Given the description of an element on the screen output the (x, y) to click on. 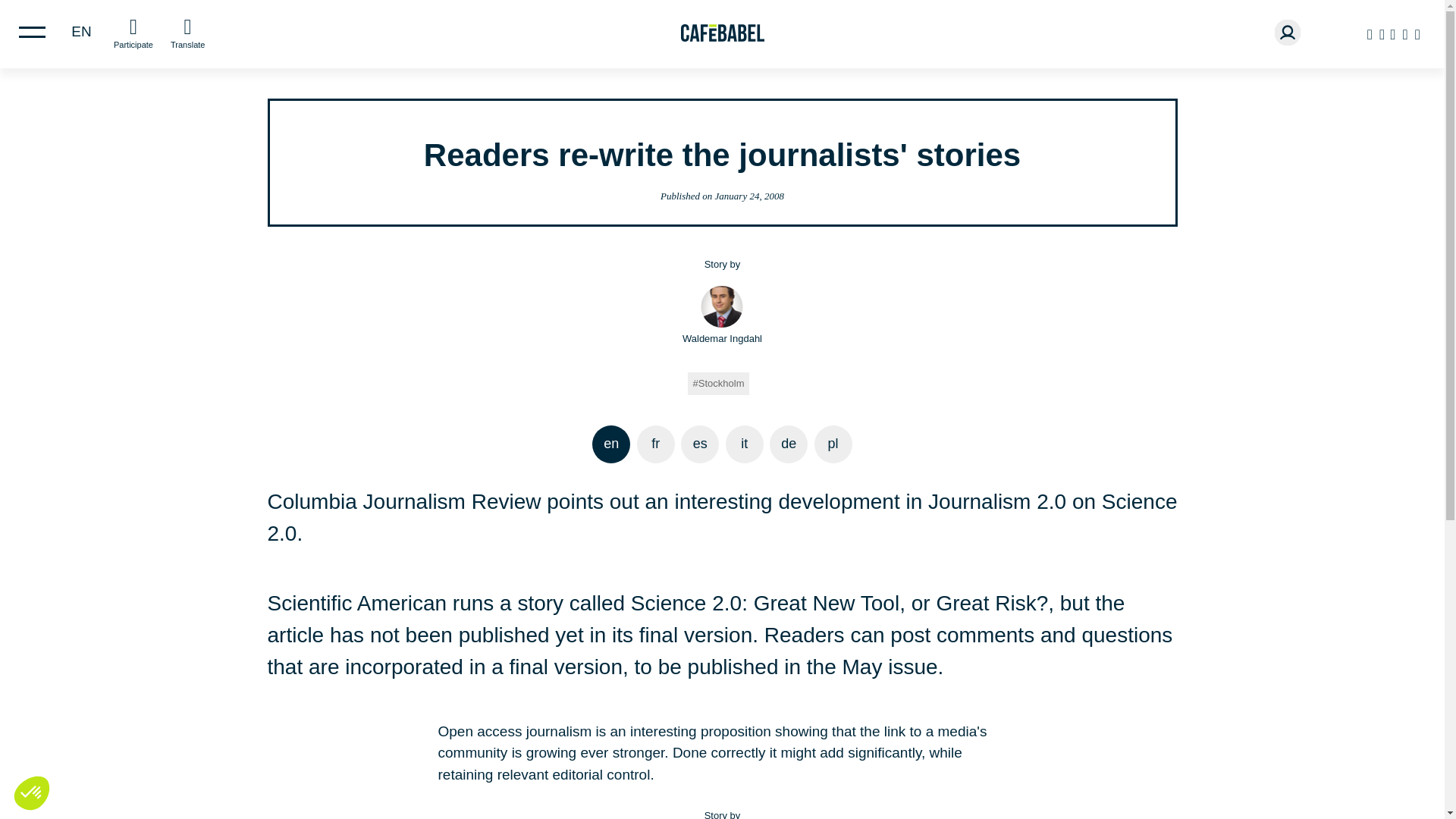
Participate (132, 31)
Participate (132, 31)
0 (28, 784)
